Given the description of an element on the screen output the (x, y) to click on. 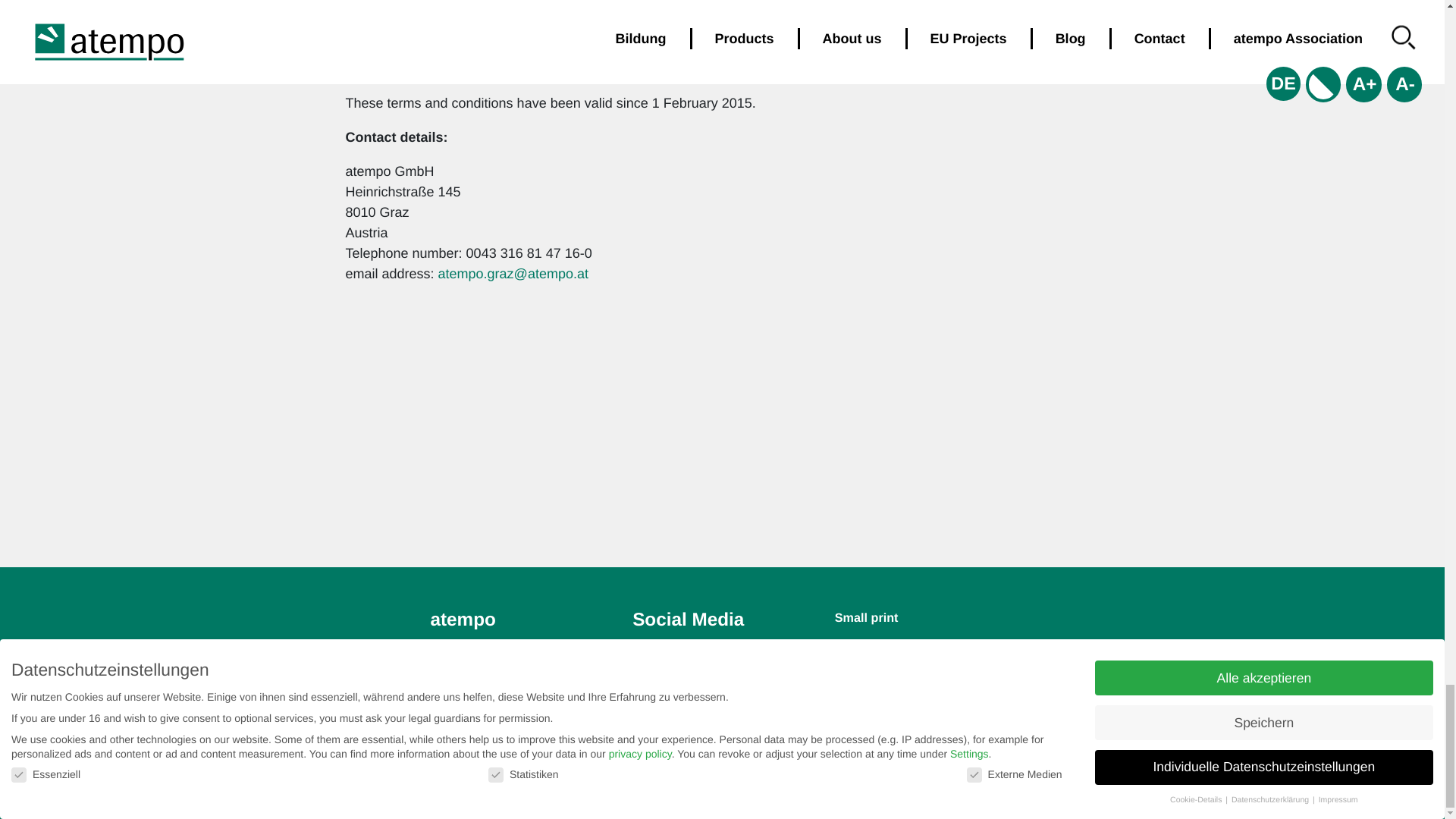
Terms and conditions (911, 667)
Youtube (672, 694)
Facebook (677, 658)
Imprint (871, 685)
Privacy policy (890, 648)
Twitter (668, 676)
